Given the description of an element on the screen output the (x, y) to click on. 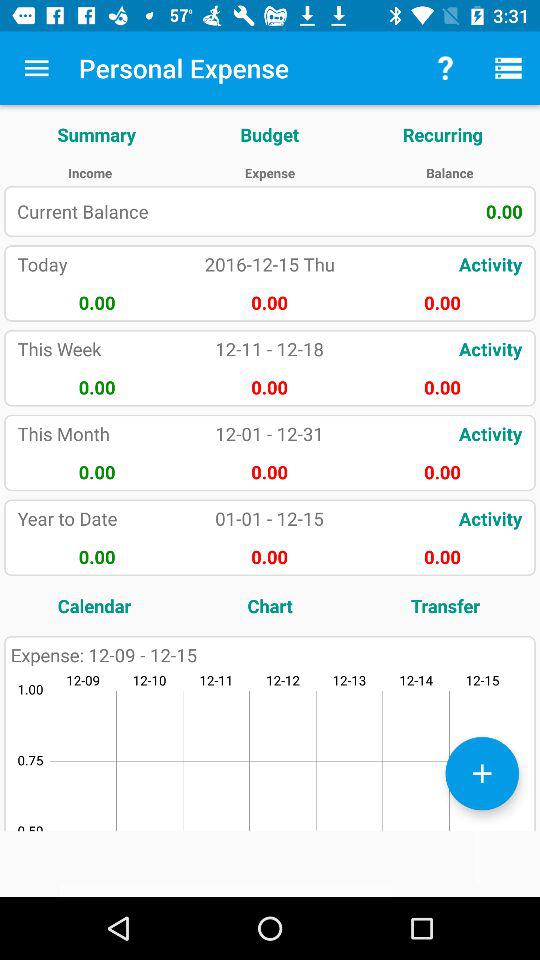
choose item next to personal expense (36, 68)
